Given the description of an element on the screen output the (x, y) to click on. 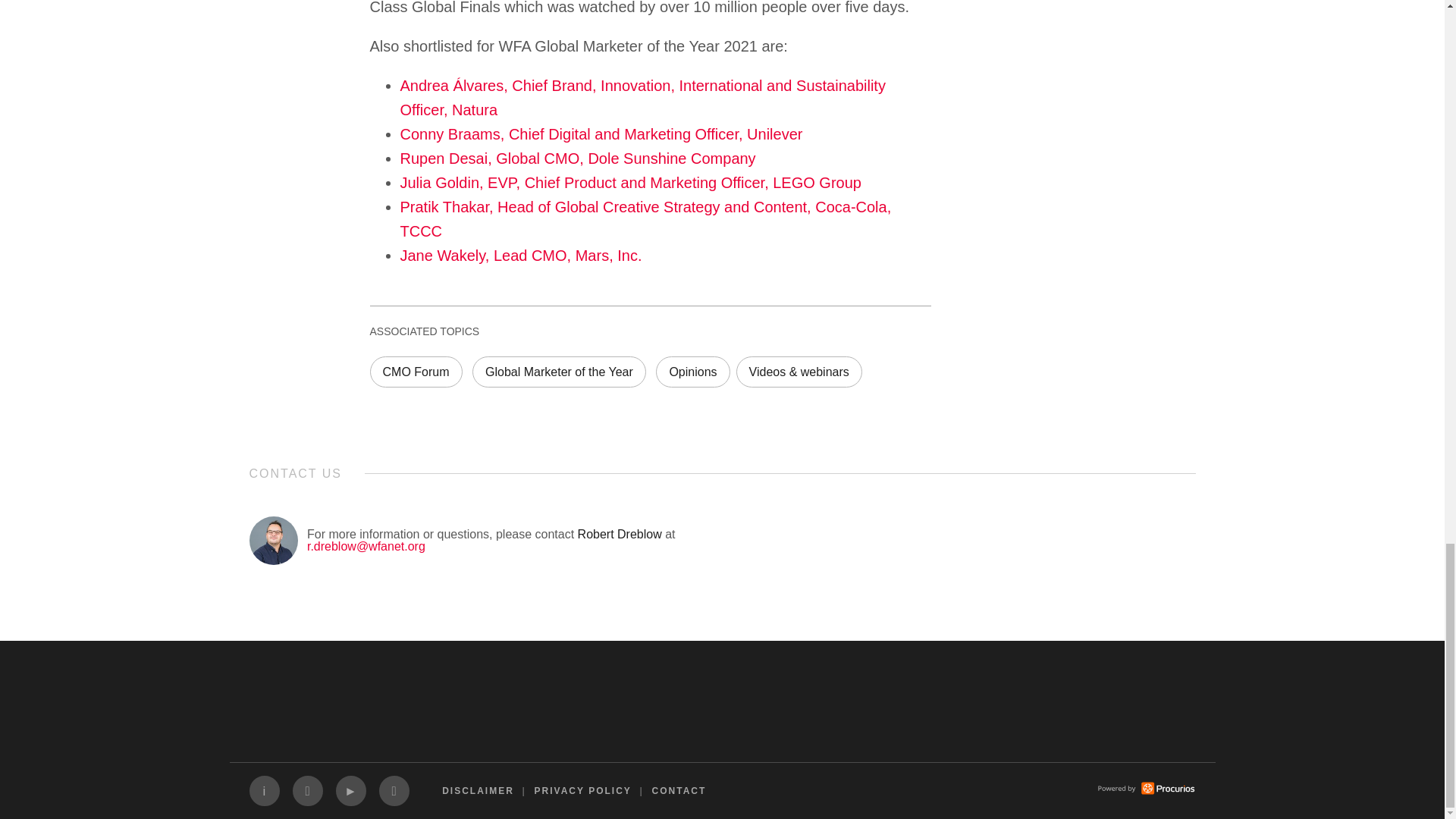
Follow us on Spotify (393, 790)
View our Youtube page (349, 790)
Show posts with the tag 'CMO Forum' (416, 371)
Follow us on X (307, 790)
Show posts with the tag 'Global Marketer of the Year' (558, 371)
Join our LinkedIn group (263, 790)
